Given the description of an element on the screen output the (x, y) to click on. 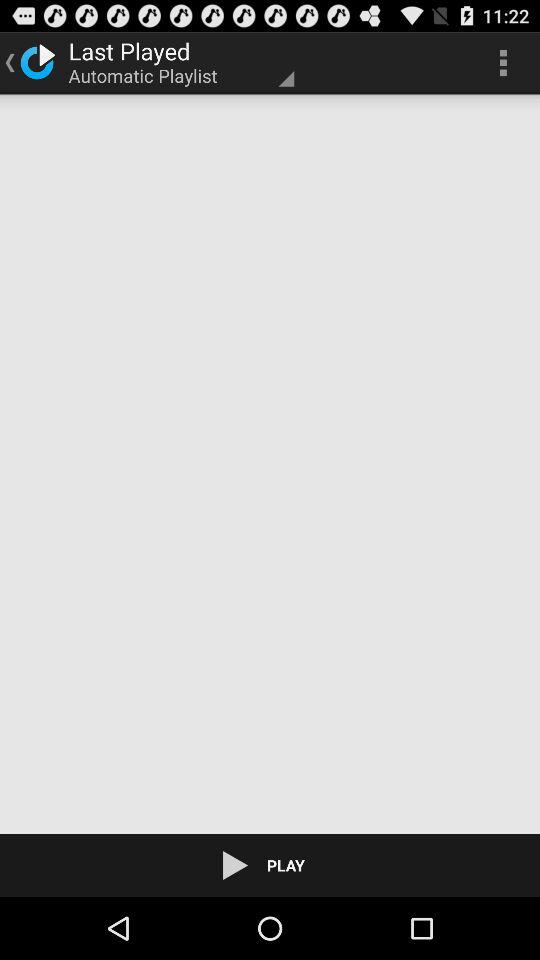
tap icon at the center (270, 463)
